Given the description of an element on the screen output the (x, y) to click on. 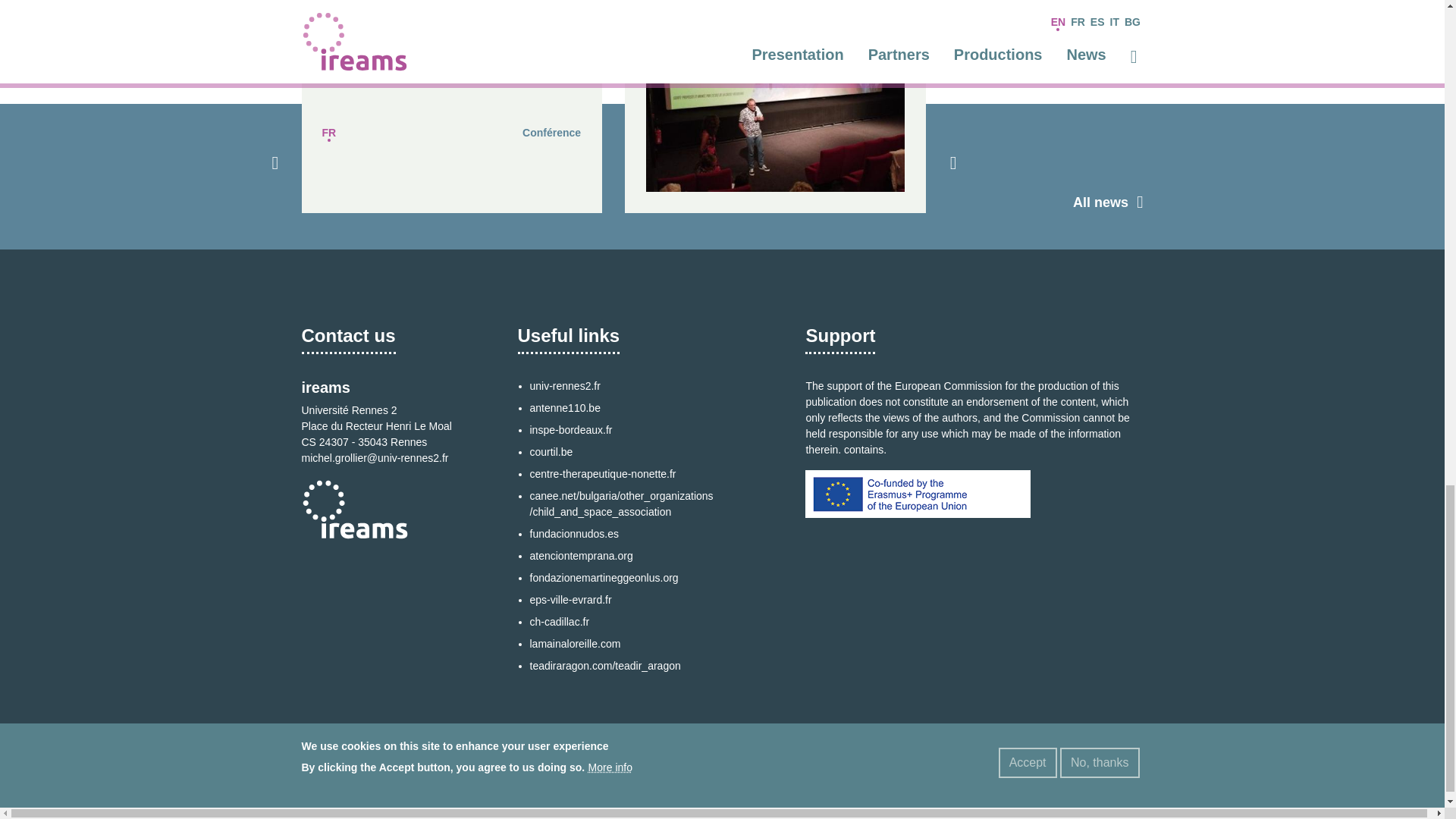
Home (596, 774)
FR (652, 9)
FR (328, 132)
